Given the description of an element on the screen output the (x, y) to click on. 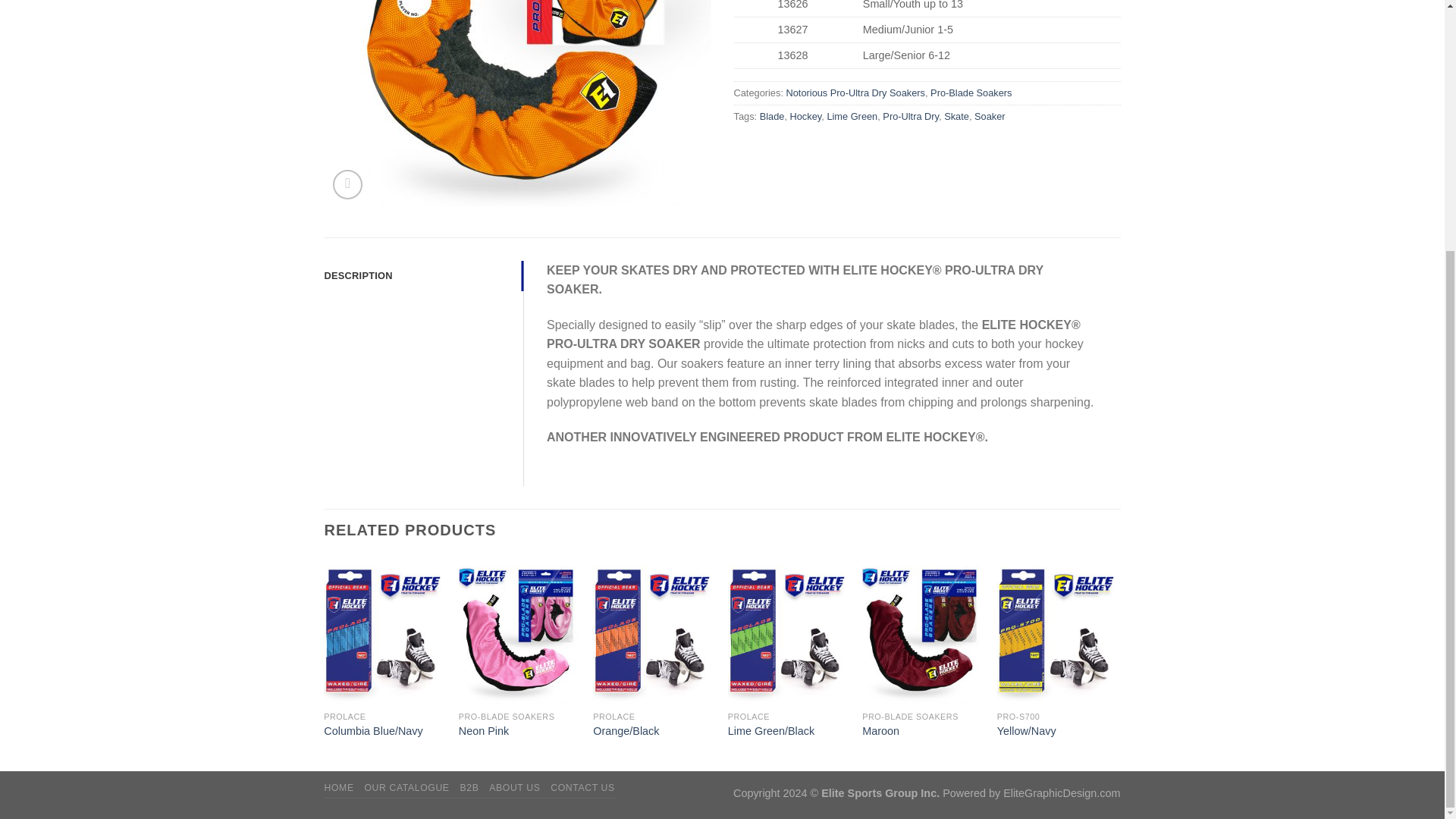
Zoom (347, 184)
